Given the description of an element on the screen output the (x, y) to click on. 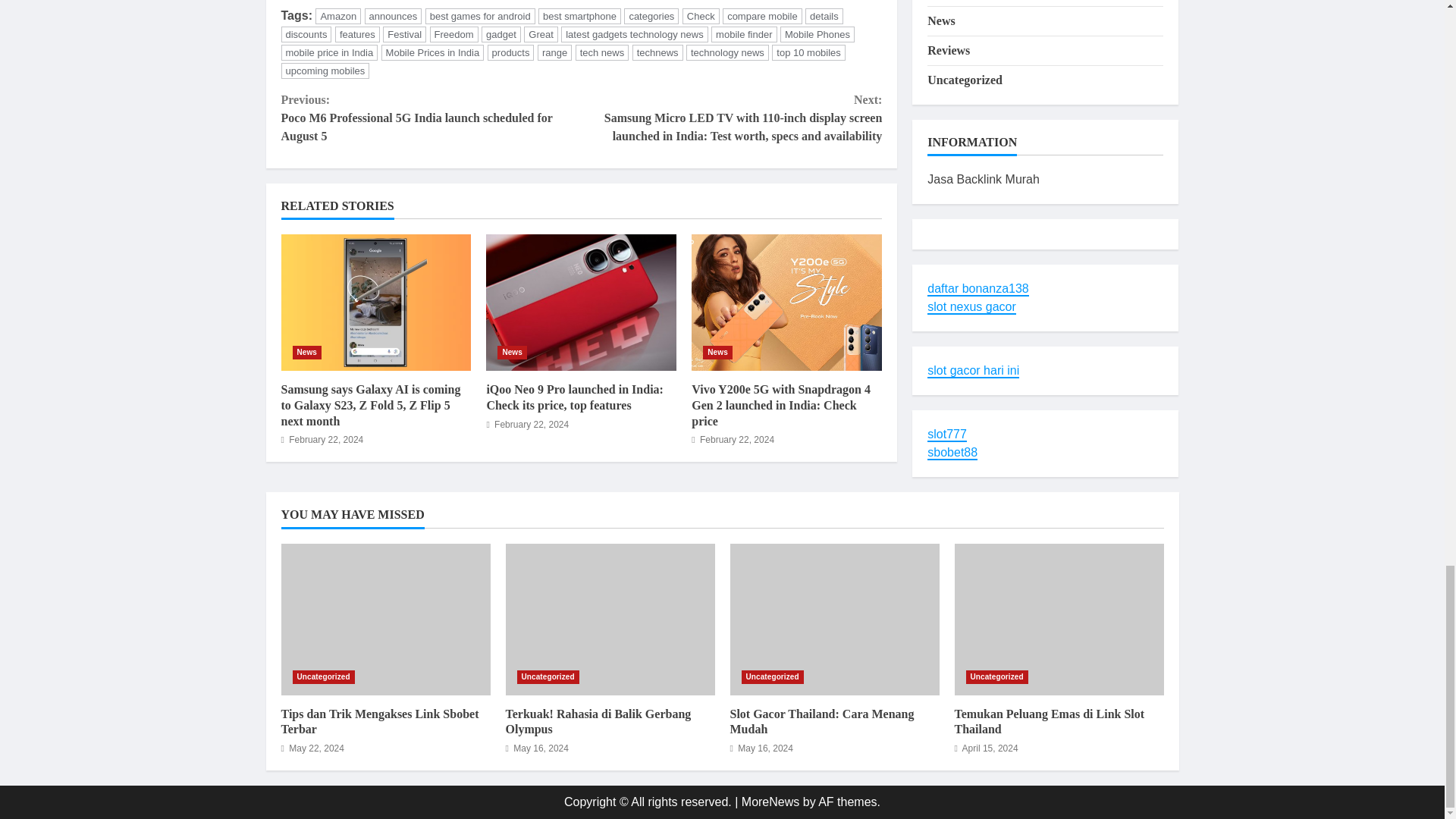
Check (700, 16)
details (824, 16)
best smartphone (579, 16)
Festival (404, 34)
Freedom (454, 34)
best games for android (480, 16)
features (357, 34)
discounts (306, 34)
